Given the description of an element on the screen output the (x, y) to click on. 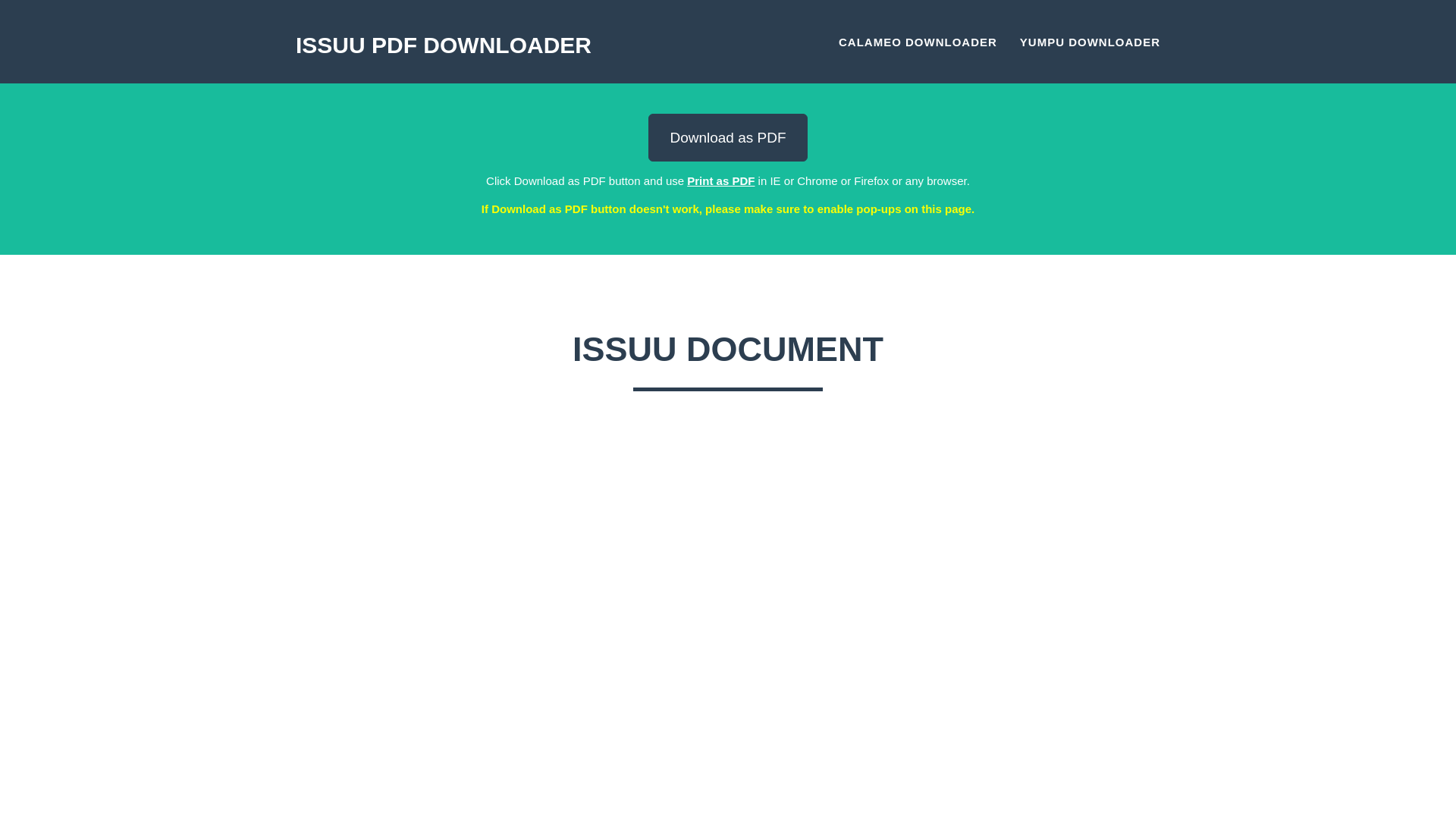
CALAMEO DOWNLOADER (918, 41)
CALAMEO DOWNLOADER (918, 41)
Download as PDF (726, 137)
ISSUU PDF DOWNLOADER (442, 41)
YUMPU DOWNLOADER (1090, 41)
YUMPU DOWNLOADER (1090, 41)
ISSUU PDF DOWNLOADER (448, 41)
